Given the description of an element on the screen output the (x, y) to click on. 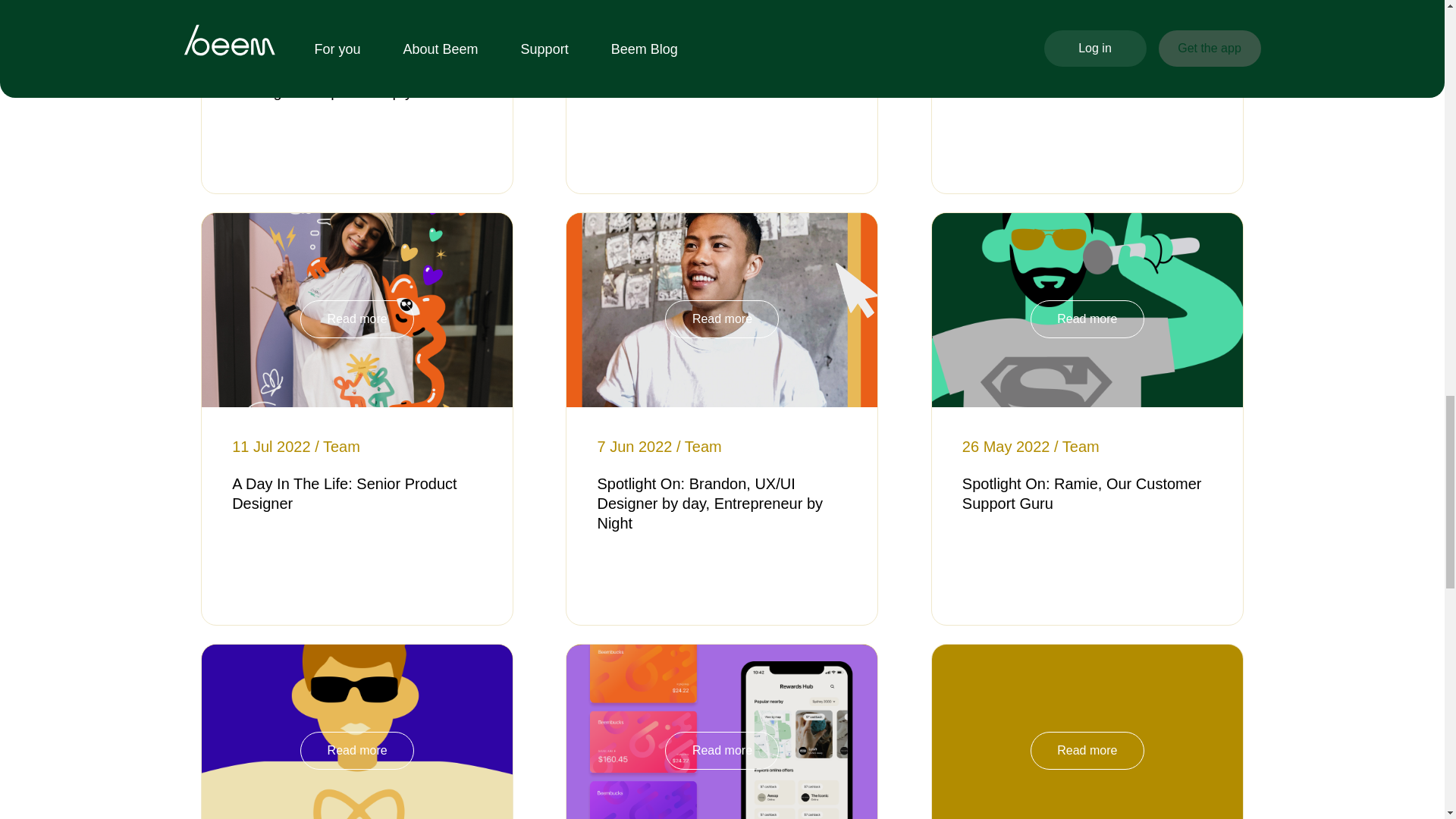
Read more (356, 750)
Read more (356, 319)
Read more (1087, 319)
Read more (721, 750)
Read more (721, 319)
Read more (1087, 750)
